Given the description of an element on the screen output the (x, y) to click on. 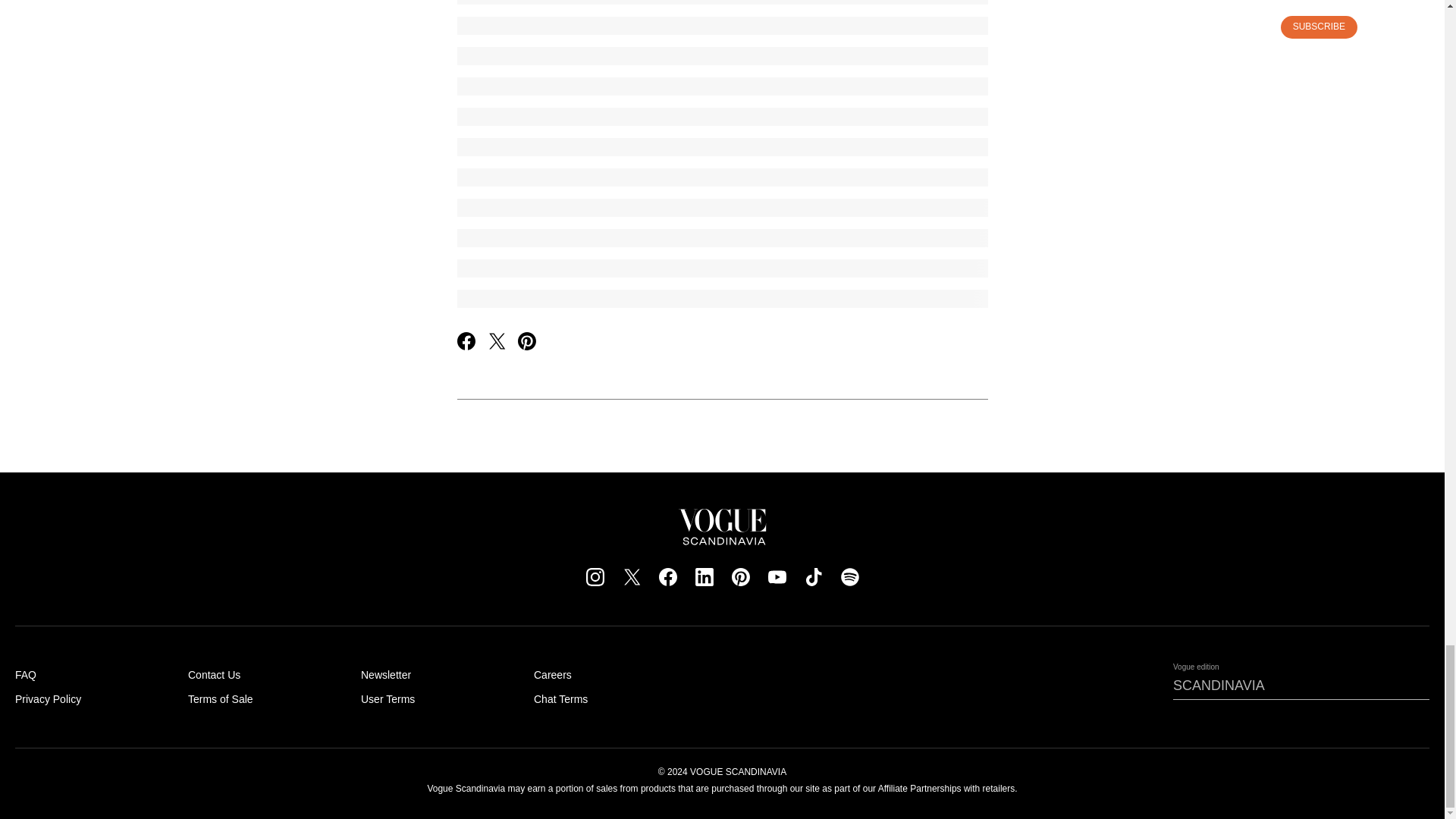
User Terms (387, 698)
Newsletter (385, 674)
FAQ (25, 674)
Contact Us (213, 674)
Chat Terms (561, 698)
Careers (553, 674)
Terms of Sale (220, 698)
Privacy Policy (47, 698)
